Given the description of an element on the screen output the (x, y) to click on. 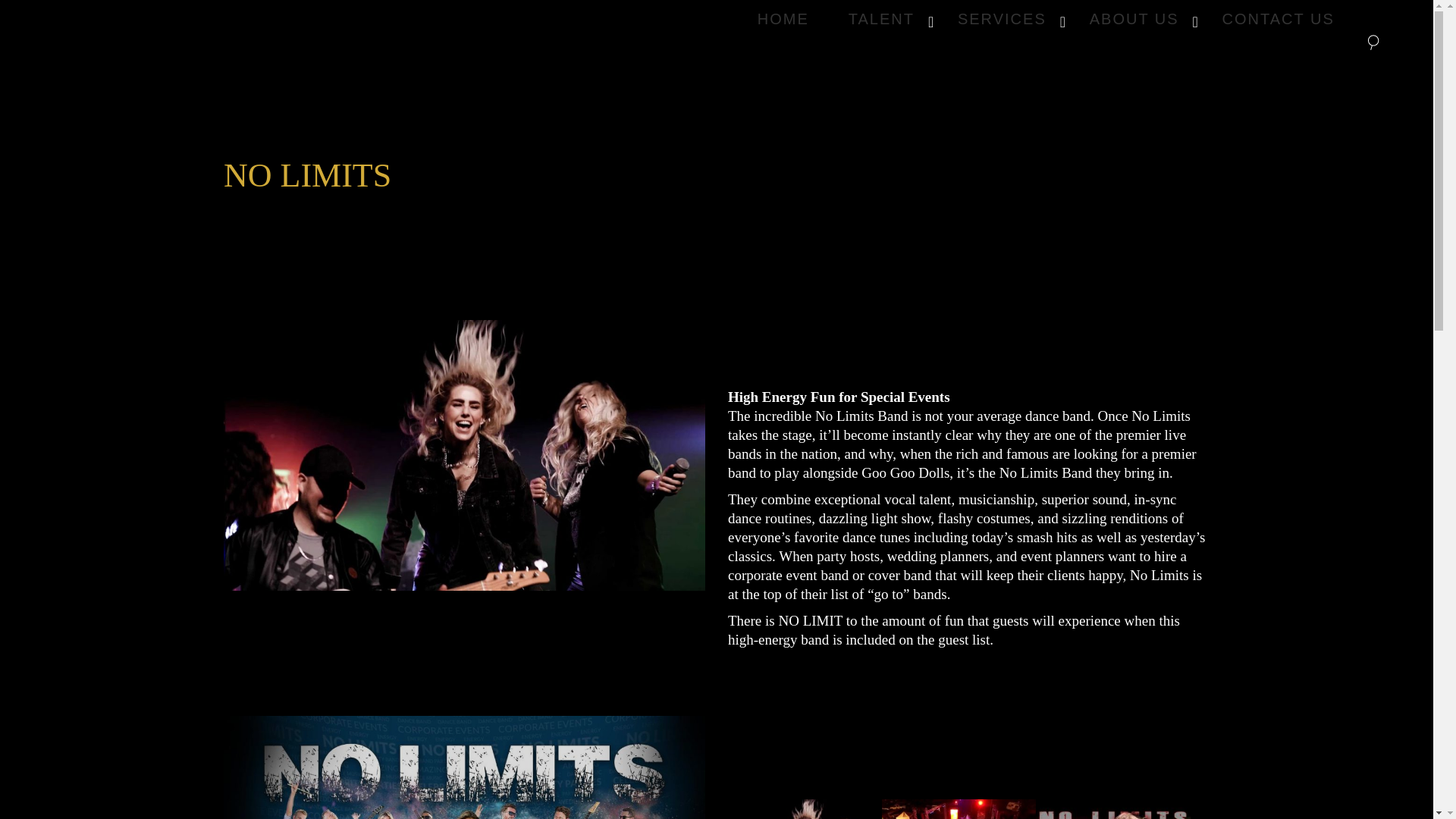
No Limits 1 (464, 455)
CONTACT US (1046, 18)
No Limits 2 (1278, 18)
HOME (464, 767)
